Given the description of an element on the screen output the (x, y) to click on. 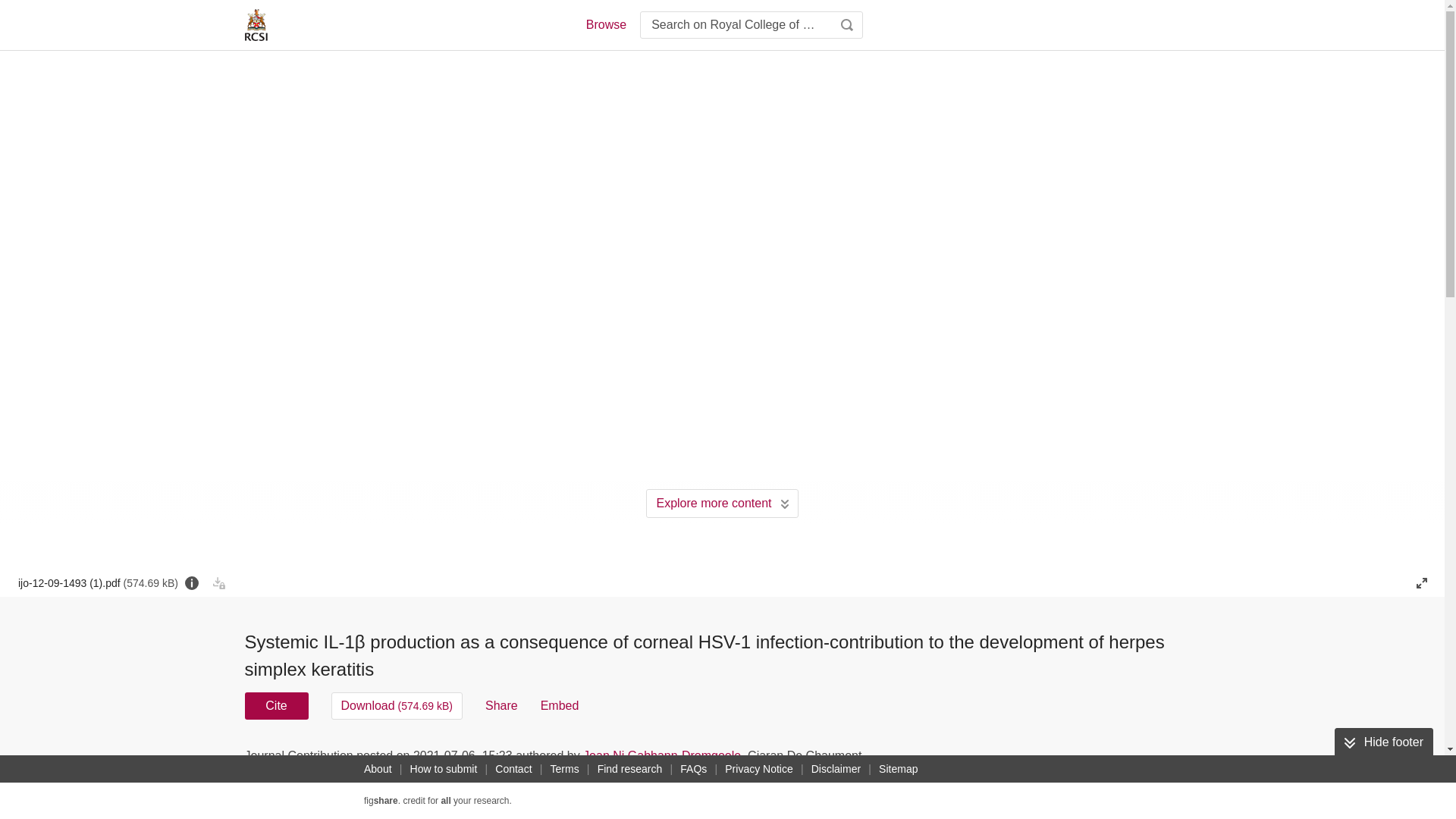
Conor Murphy (567, 782)
Embed (559, 705)
USAGE METRICS (976, 759)
Browse (605, 24)
Cite (275, 705)
Share (501, 705)
Explore more content (721, 502)
Joan Ni Gabhann-Dromgoole (662, 755)
